Given the description of an element on the screen output the (x, y) to click on. 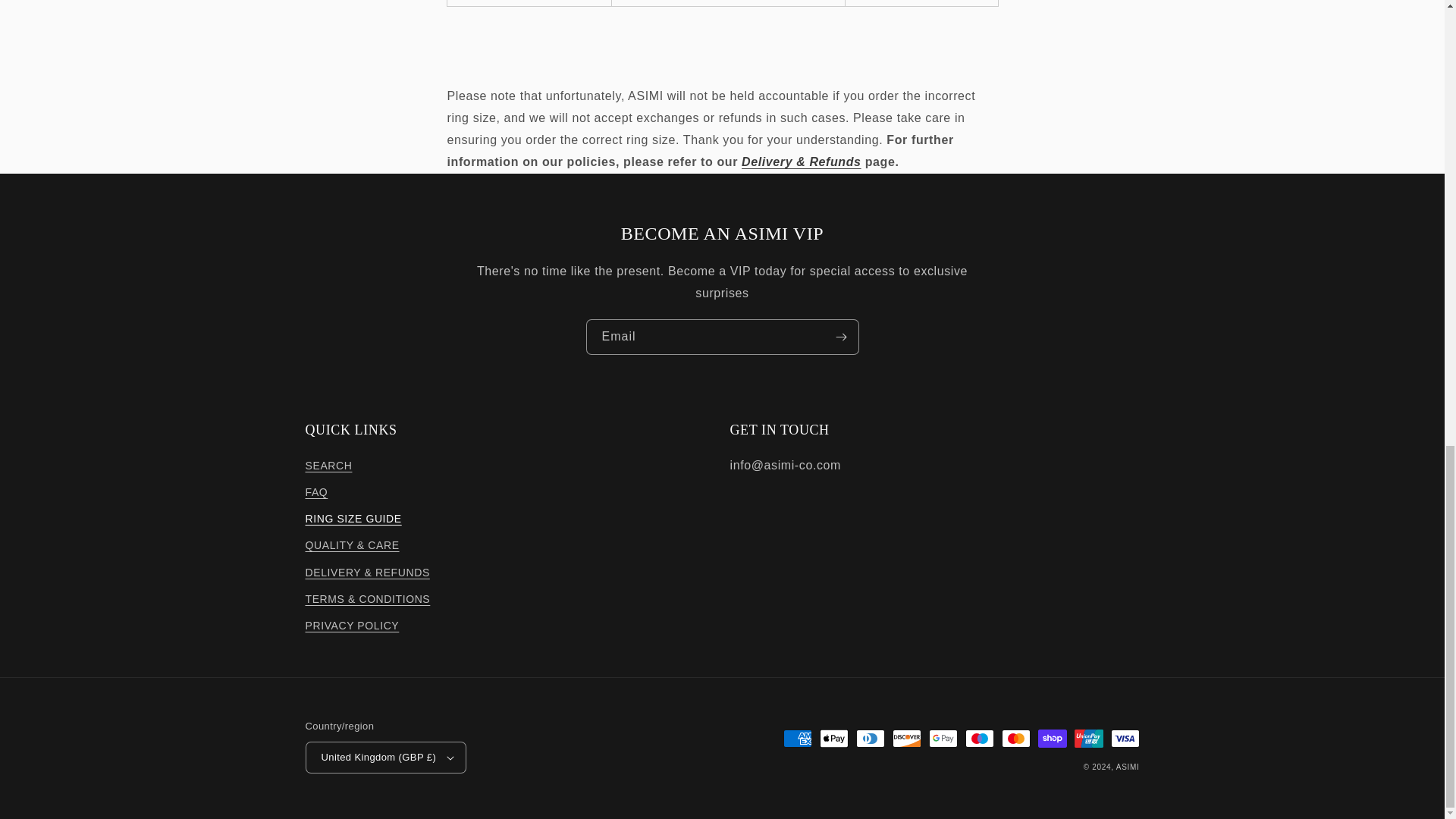
RING SIZE GUIDE (352, 519)
FAQ (315, 492)
ASIMI (1128, 766)
PRIVACY POLICY (351, 625)
SEARCH (328, 467)
